Given the description of an element on the screen output the (x, y) to click on. 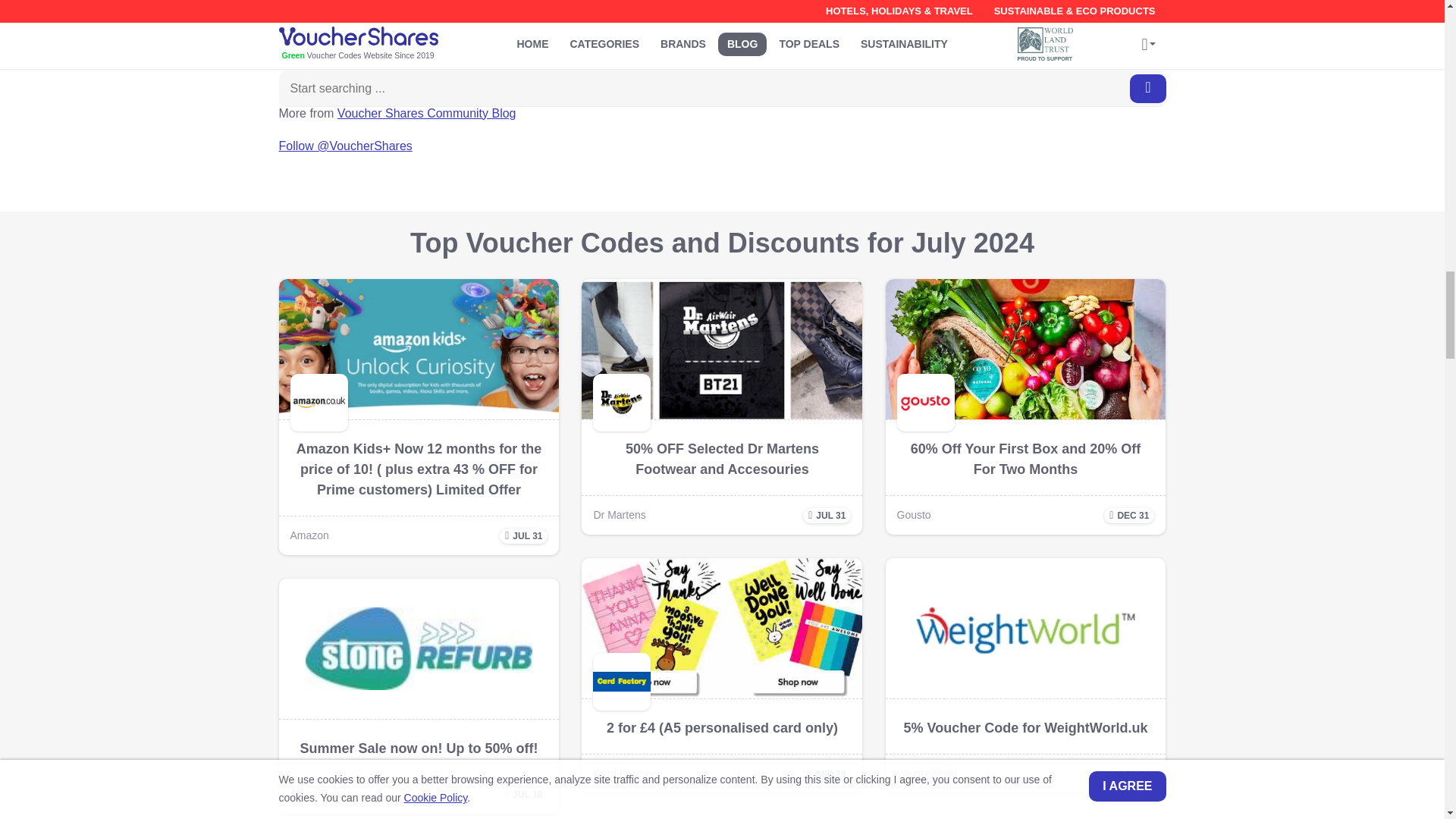
Voucher Shares Community Blog (426, 113)
Amazon (309, 535)
Dr Martens (618, 514)
Christmas gifts for kids - best toys 2020 (385, 14)
Amazon (419, 349)
Top 5 Christmas gifts for men this season (389, 47)
Gousto (913, 514)
